Given the description of an element on the screen output the (x, y) to click on. 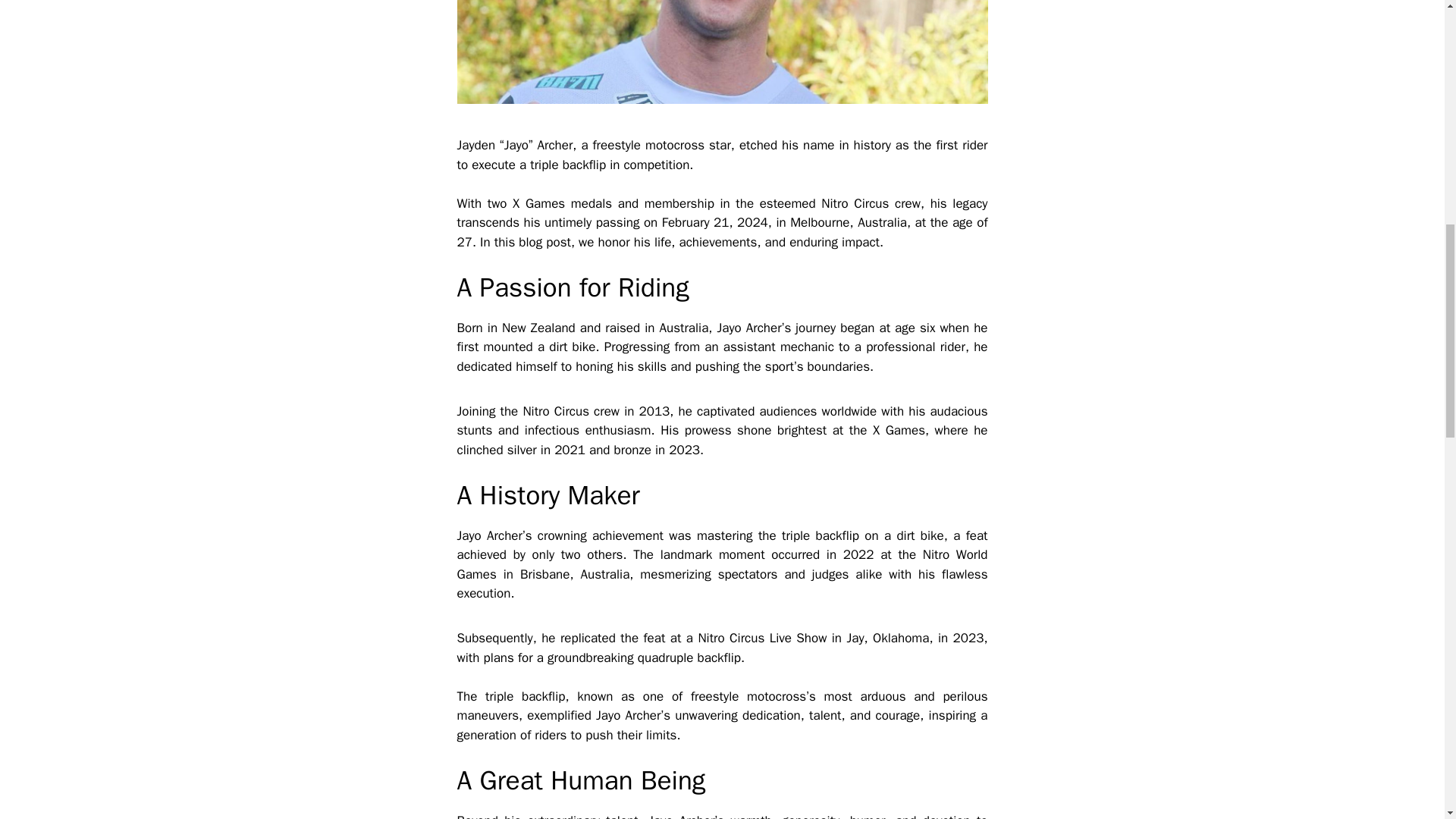
Jayo Archer Death: A Tribute to the Motocross Legend 1 (722, 52)
